Given the description of an element on the screen output the (x, y) to click on. 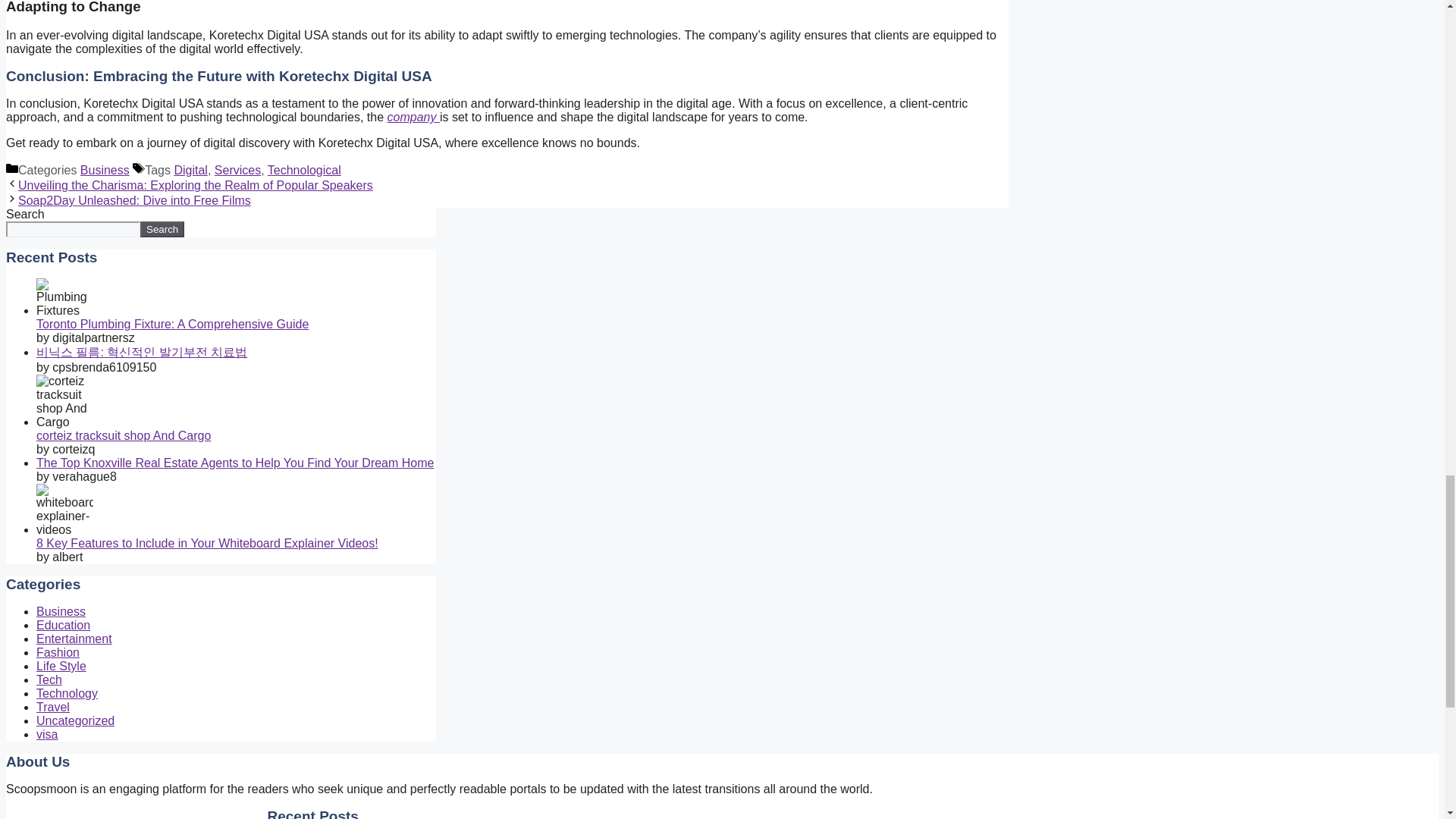
corteiz tracksuit shop And Cargo (123, 435)
Fashion (58, 652)
company (413, 116)
Toronto Plumbing Fixture: A Comprehensive Guide (172, 323)
Technology (66, 693)
Tech (49, 679)
Entertainment (74, 638)
Business (104, 169)
